Given the description of an element on the screen output the (x, y) to click on. 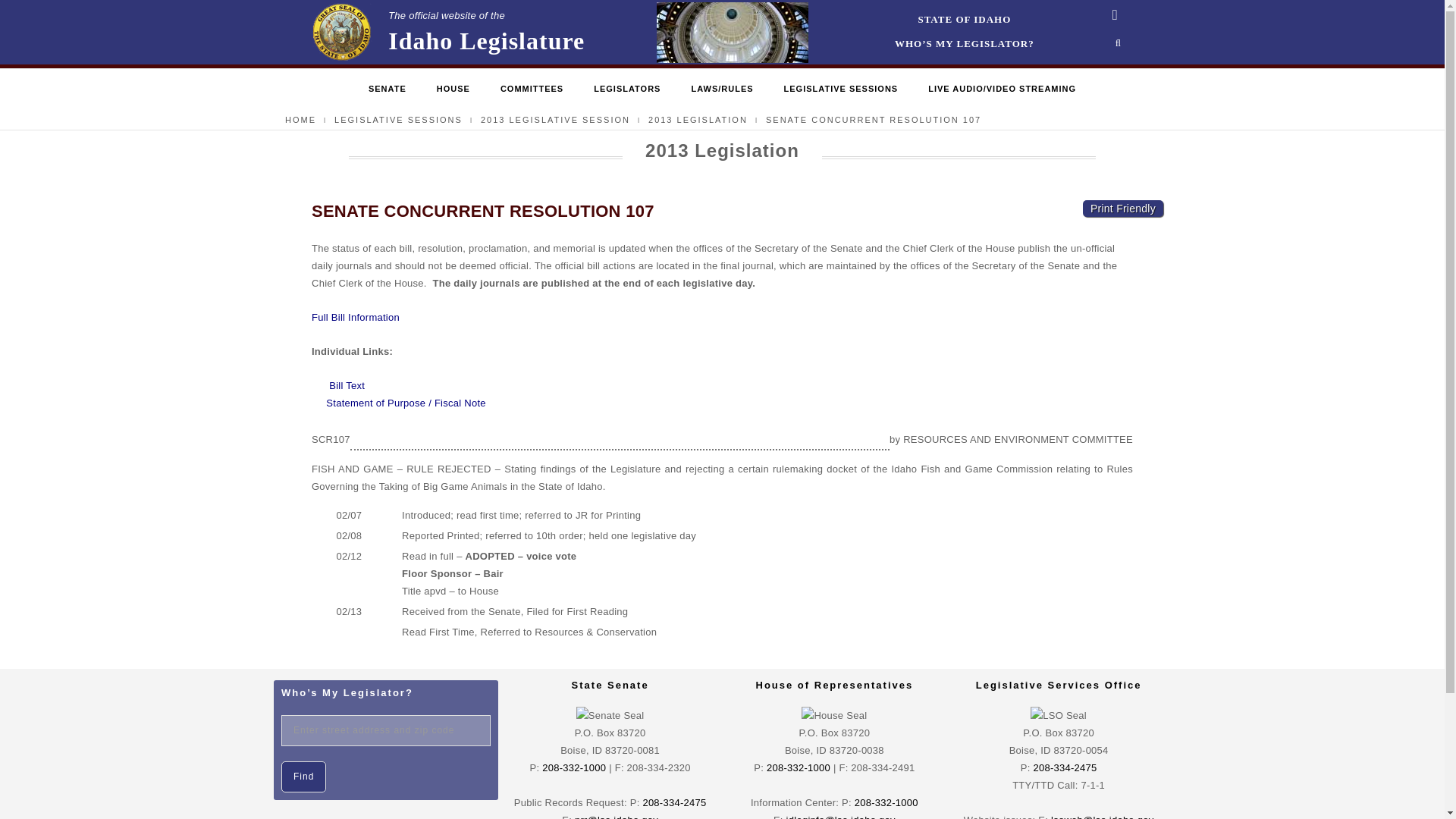
Find (303, 776)
SENATE (387, 89)
Browse to: Home (300, 119)
HOUSE (453, 89)
LEGISLATORS (446, 31)
Browse to: 2013 Legislative Session (627, 89)
Browse to: Legislative Sessions (555, 119)
STATE OF IDAHO (398, 119)
COMMITTEES (964, 20)
